Given the description of an element on the screen output the (x, y) to click on. 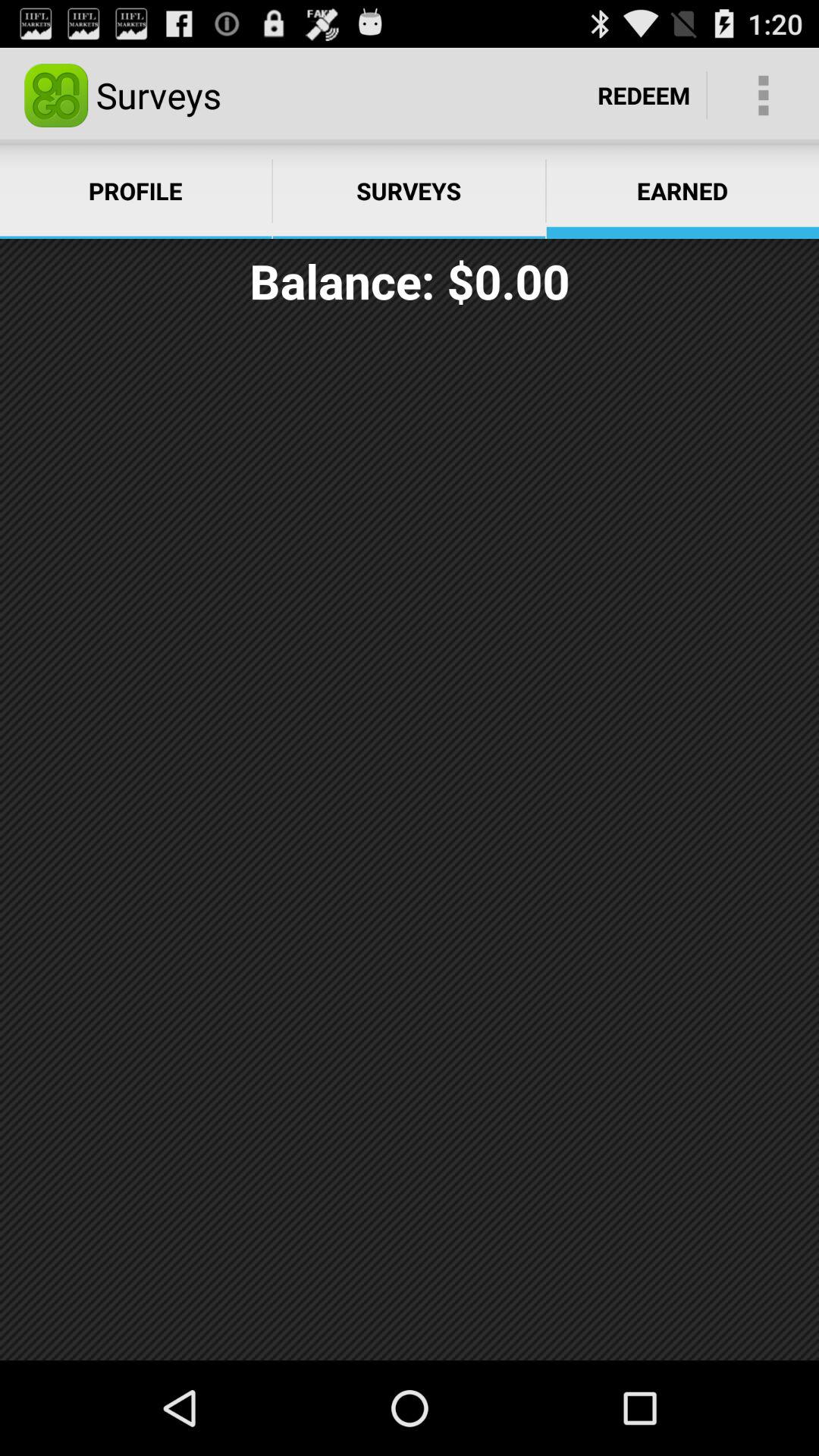
tap the icon next to the redeem item (763, 95)
